Given the description of an element on the screen output the (x, y) to click on. 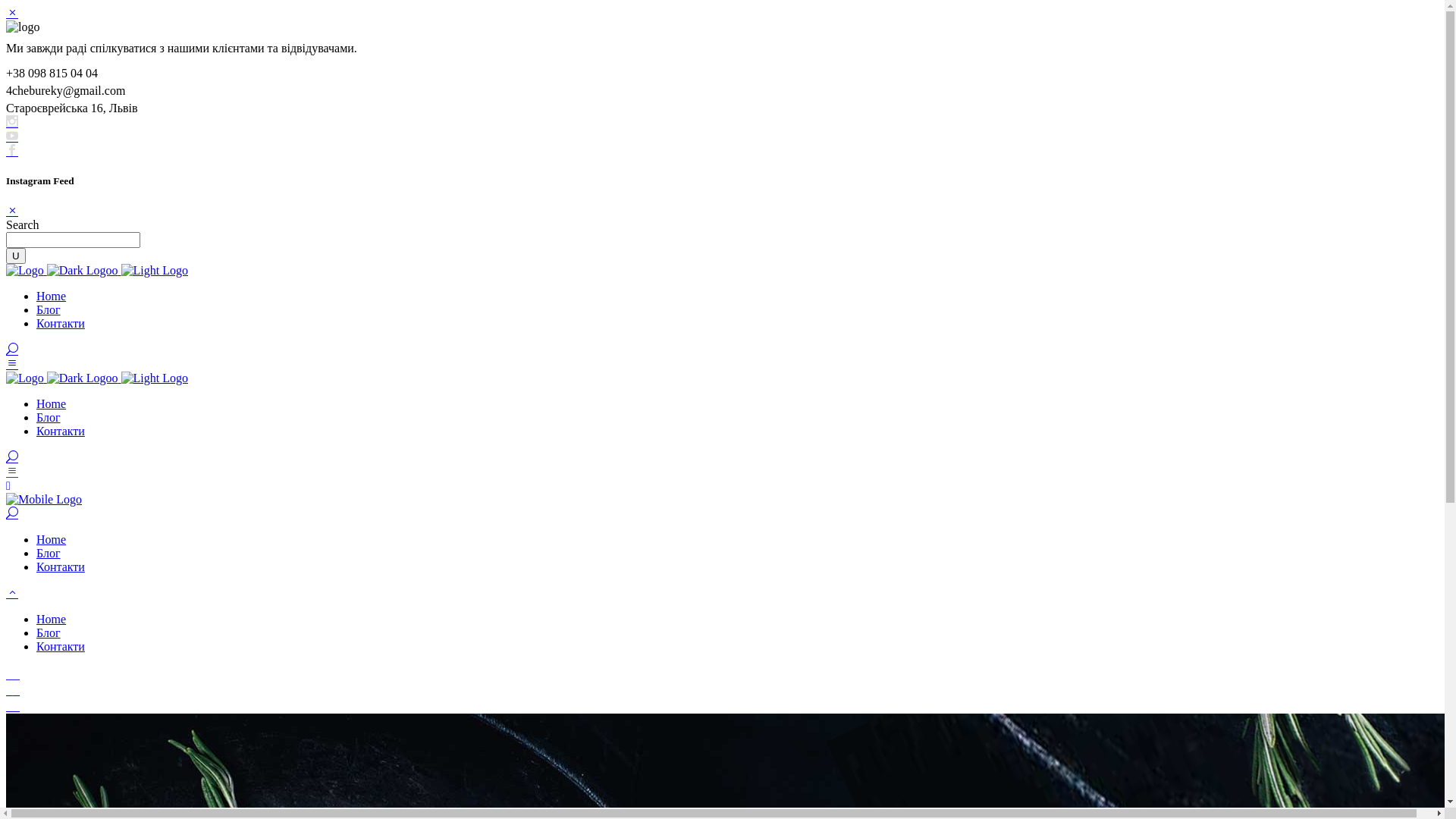
Home Element type: text (50, 403)
Home Element type: text (50, 295)
U Element type: text (15, 255)
Home Element type: text (50, 618)
Home Element type: text (50, 539)
